Given the description of an element on the screen output the (x, y) to click on. 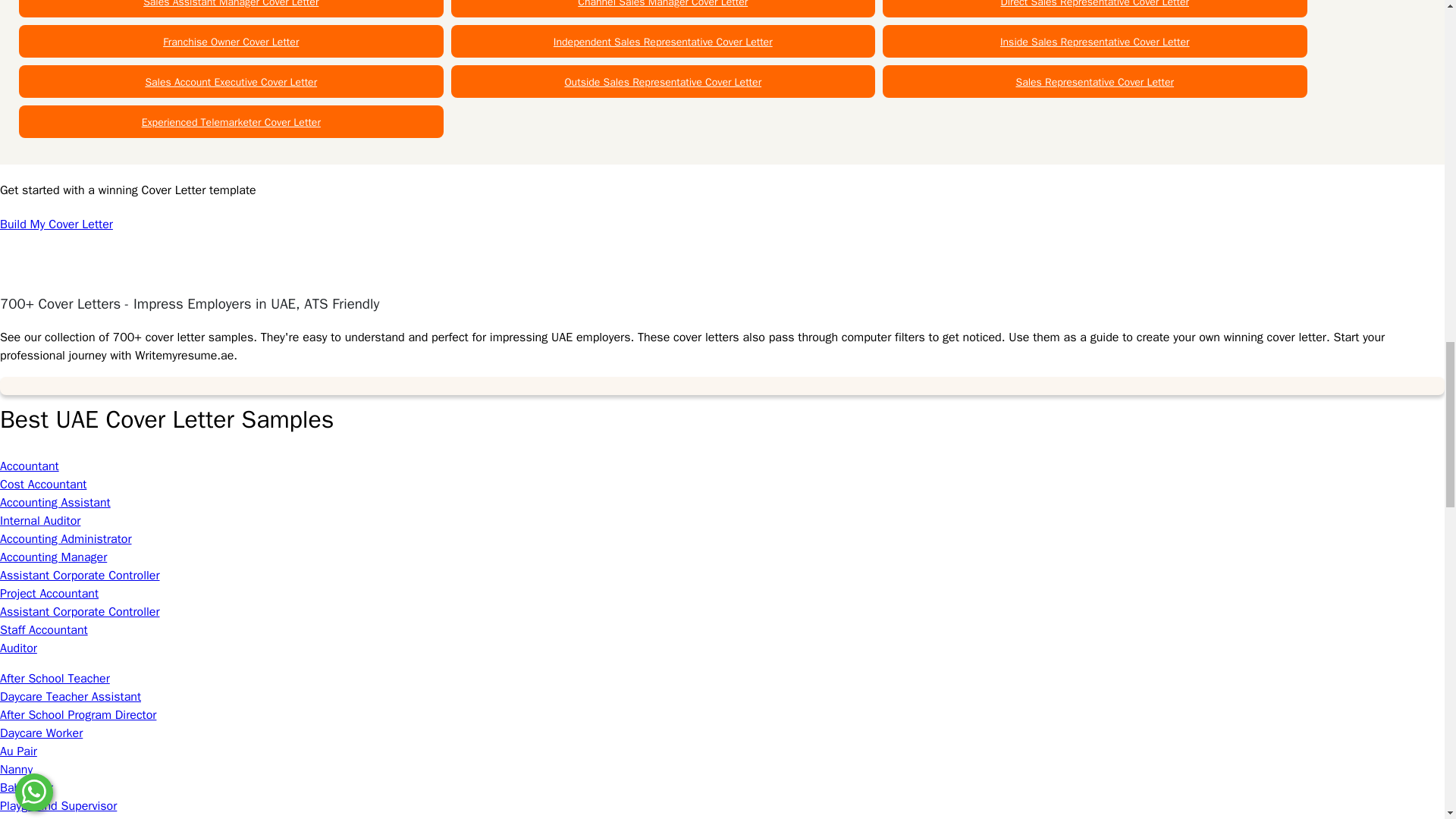
Outside Sales Representative Cover Letter (662, 82)
Sales Representative Cover Letter (1093, 82)
Direct Sales Representative Cover Letter (1094, 4)
Channel Sales Manager Cover Letter (663, 4)
Franchise Owner Cover Letter (230, 42)
Experienced Telemarketer Cover Letter (230, 122)
Independent Sales Representative Cover Letter (663, 42)
Sales Account Executive Cover Letter (230, 82)
Inside Sales Representative Cover Letter (1094, 42)
Sales Assistant Manager Cover Letter (230, 4)
